Given the description of an element on the screen output the (x, y) to click on. 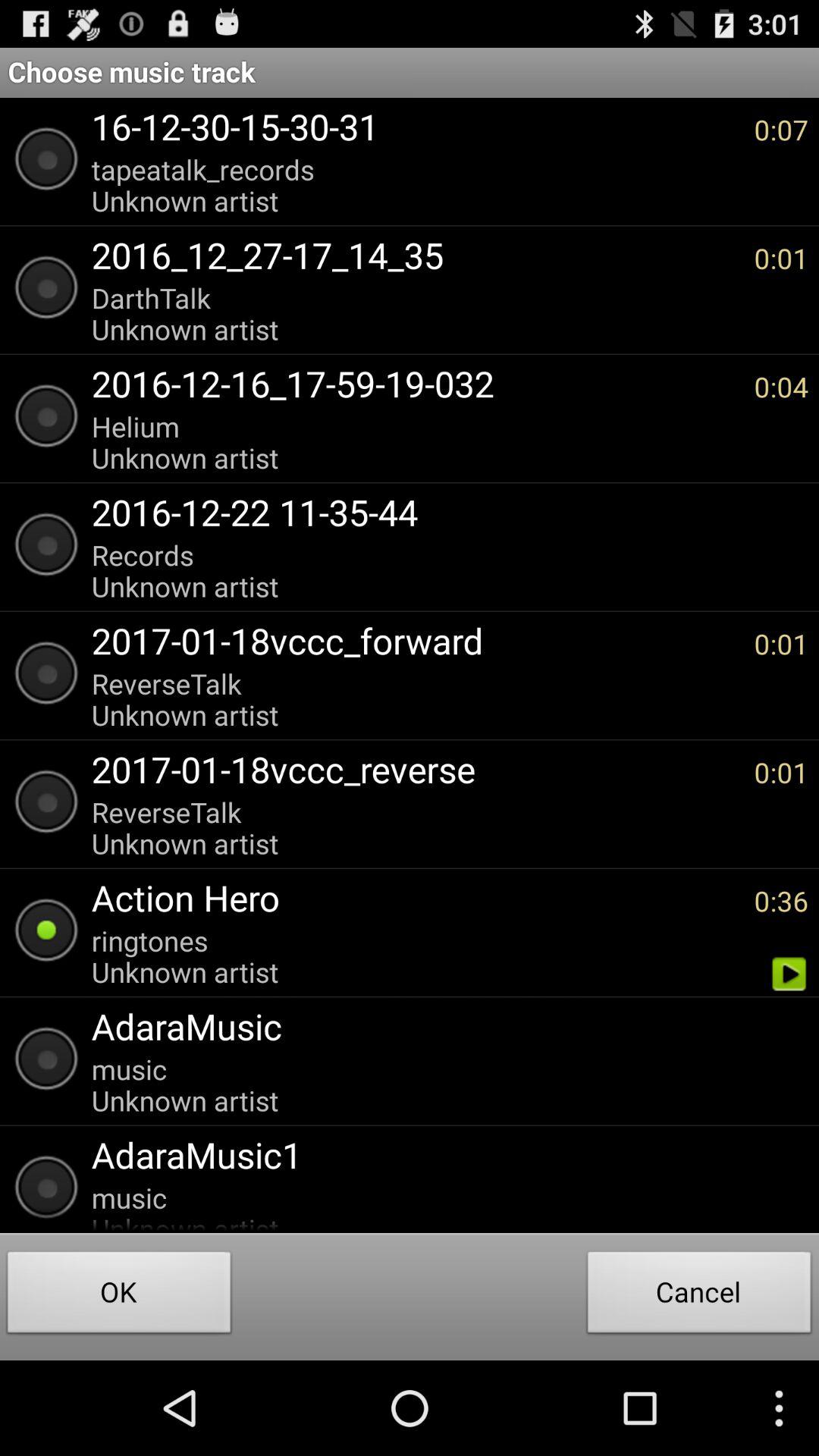
turn off item next to the cancel button (119, 1296)
